Given the description of an element on the screen output the (x, y) to click on. 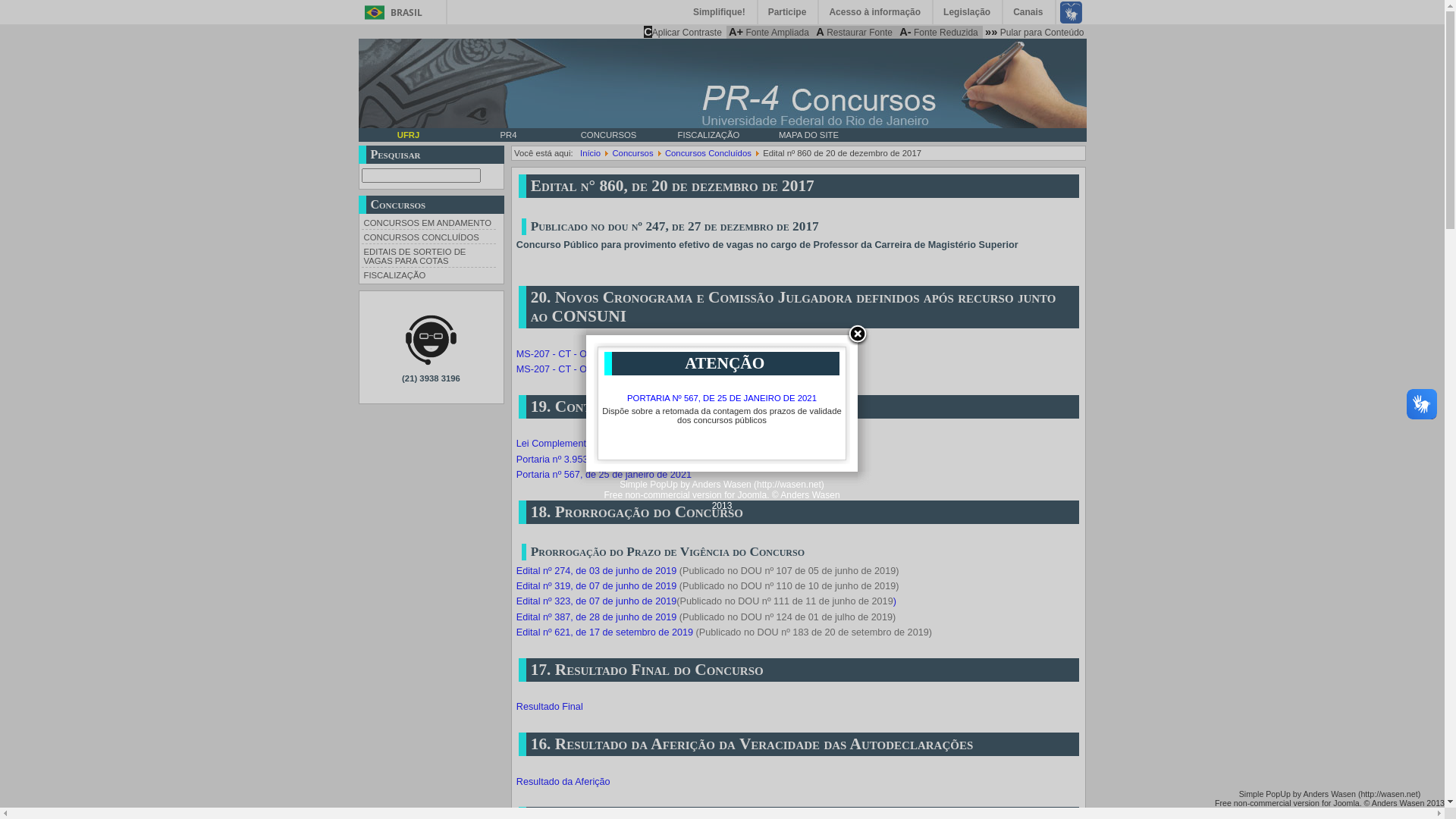
Participe Element type: text (788, 11)
Resultado Final Element type: text (549, 706)
) Element type: text (894, 601)
Simplifique! Element type: text (719, 11)
UFRJ Element type: text (407, 134)
CAplicar Contraste Element type: text (682, 31)
CONCURSOS EM ANDAMENTO Element type: text (427, 222)
MAPA DO SITE Element type: text (808, 134)
Canais Element type: text (1028, 11)
Concursos Element type: text (631, 152)
A- Fonte Reduzida Element type: text (938, 31)
CONCURSOS Element type: text (608, 134)
BRASIL Element type: text (389, 12)
A Restaurar Fonte Element type: text (853, 31)
EDITAIS DE SORTEIO DE VAGAS PARA COTAS Element type: text (427, 254)
A+ Fonte Ampliada Element type: text (768, 31)
PR4 Element type: text (508, 134)
